Given the description of an element on the screen output the (x, y) to click on. 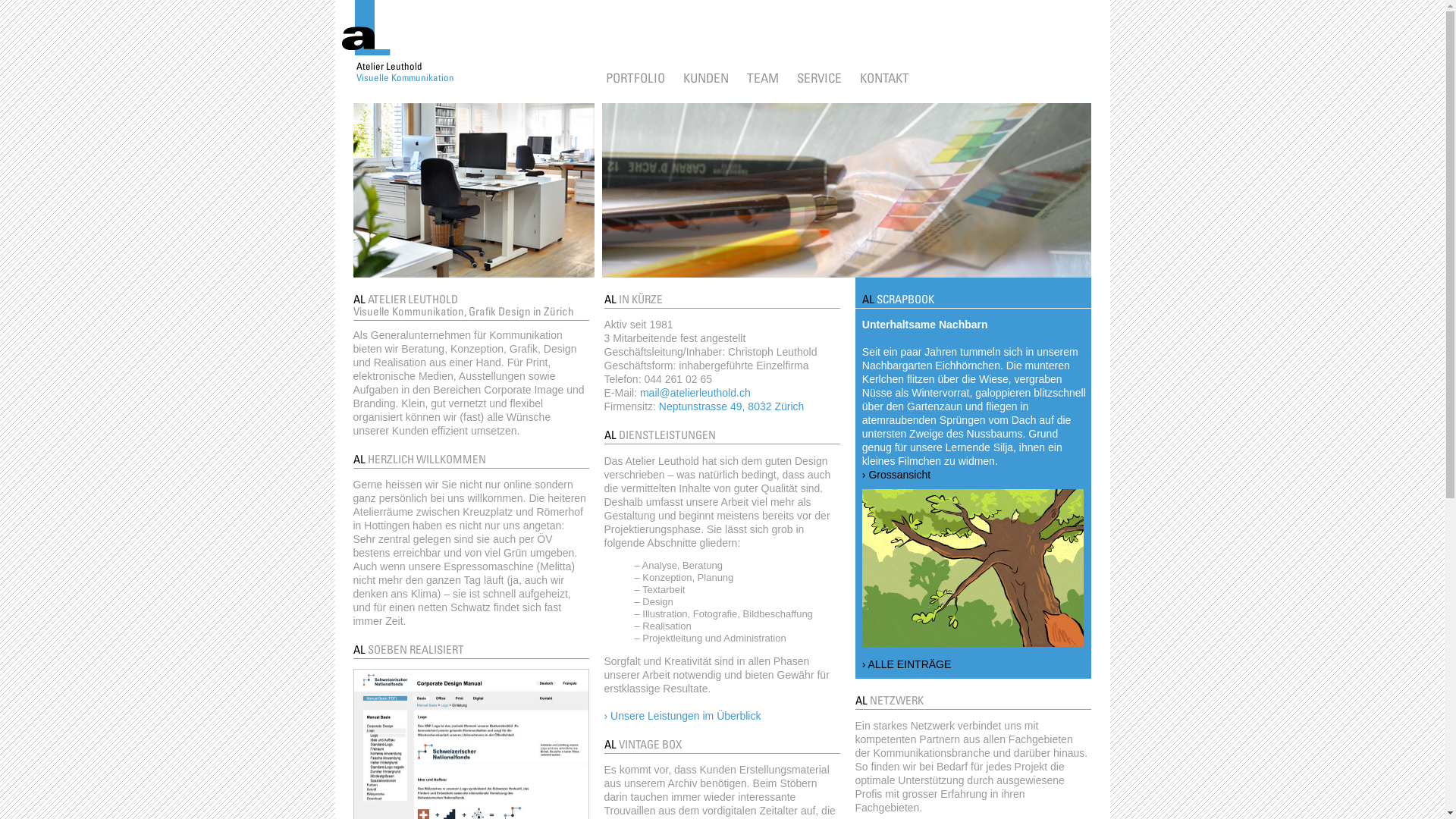
KONTAKT Element type: text (884, 77)
mail@atelierleuthold.ch Element type: text (695, 392)
SERVICE Element type: text (818, 77)
Aktuell vom Atelier Leuthold Unterhaltsame Nachbarn Element type: hover (972, 567)
KUNDEN Element type: text (705, 77)
PORTFOLIO Element type: text (634, 77)
TEAM Element type: text (762, 77)
